Given the description of an element on the screen output the (x, y) to click on. 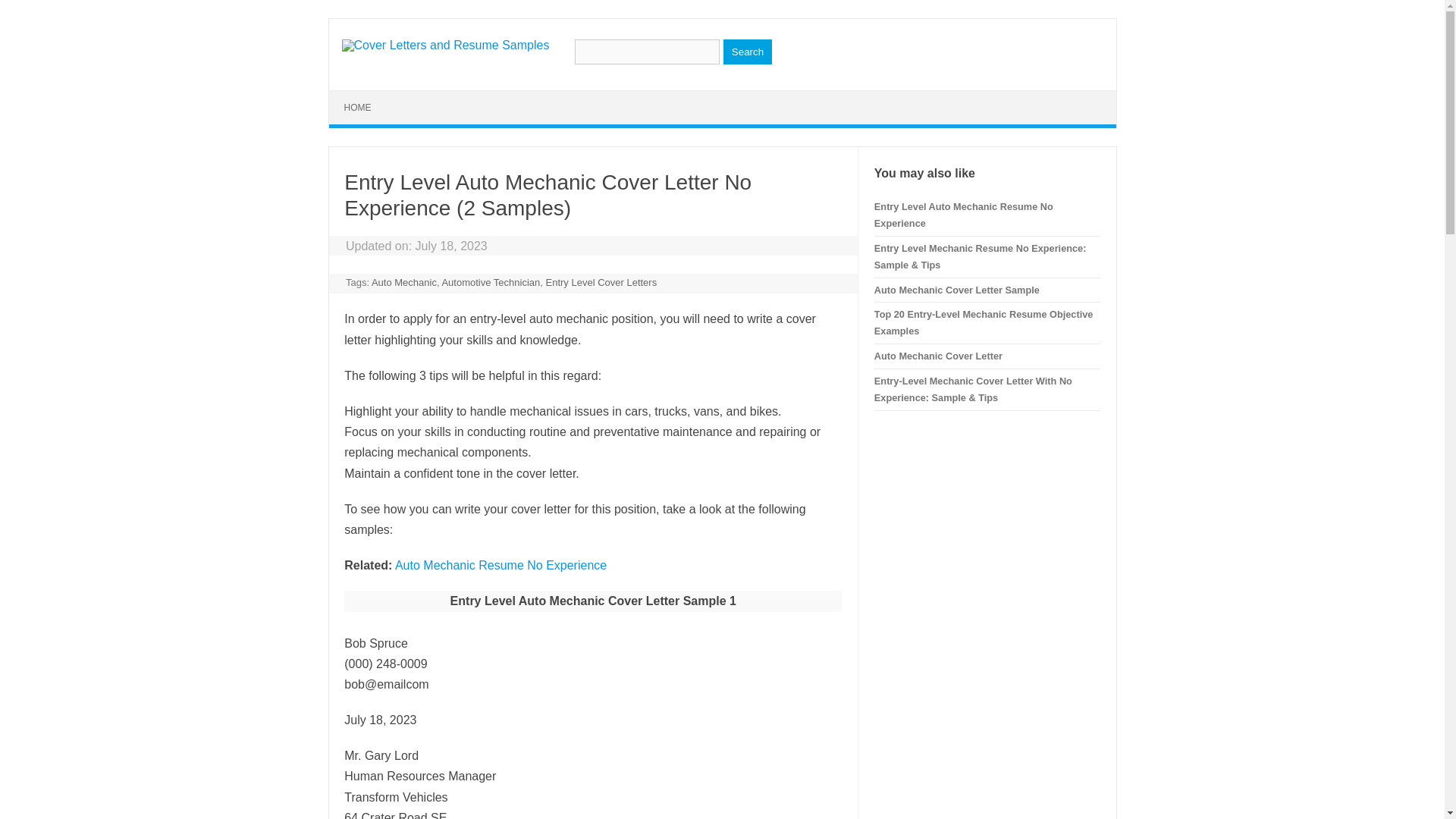
Auto Mechanic (403, 282)
Entry Level Cover Letters (600, 282)
Entry Level Auto Mechanic Resume No Experience (963, 214)
Auto Mechanic Cover Letter Sample (957, 288)
Search (747, 51)
Automotive Technician (490, 282)
Search (747, 51)
Top 20 Entry-Level Mechanic Resume Objective Examples (984, 322)
Auto Mechanic Resume No Experience (499, 564)
Cover Letters and Resume Samples (444, 44)
Auto Mechanic Cover Letter (939, 355)
HOME (358, 107)
